Given the description of an element on the screen output the (x, y) to click on. 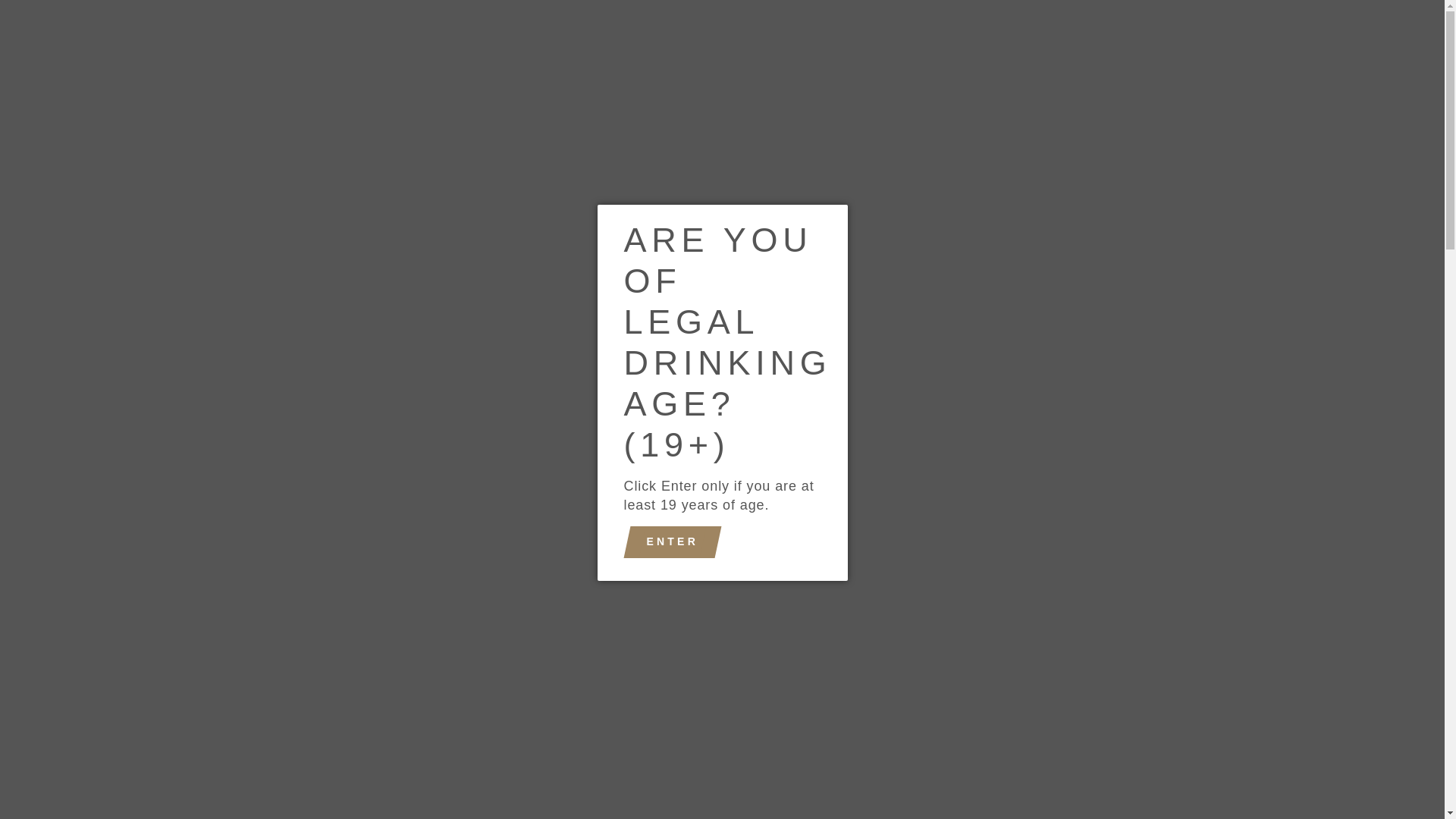
SHOP NOW (502, 99)
HOME (409, 99)
